Given the description of an element on the screen output the (x, y) to click on. 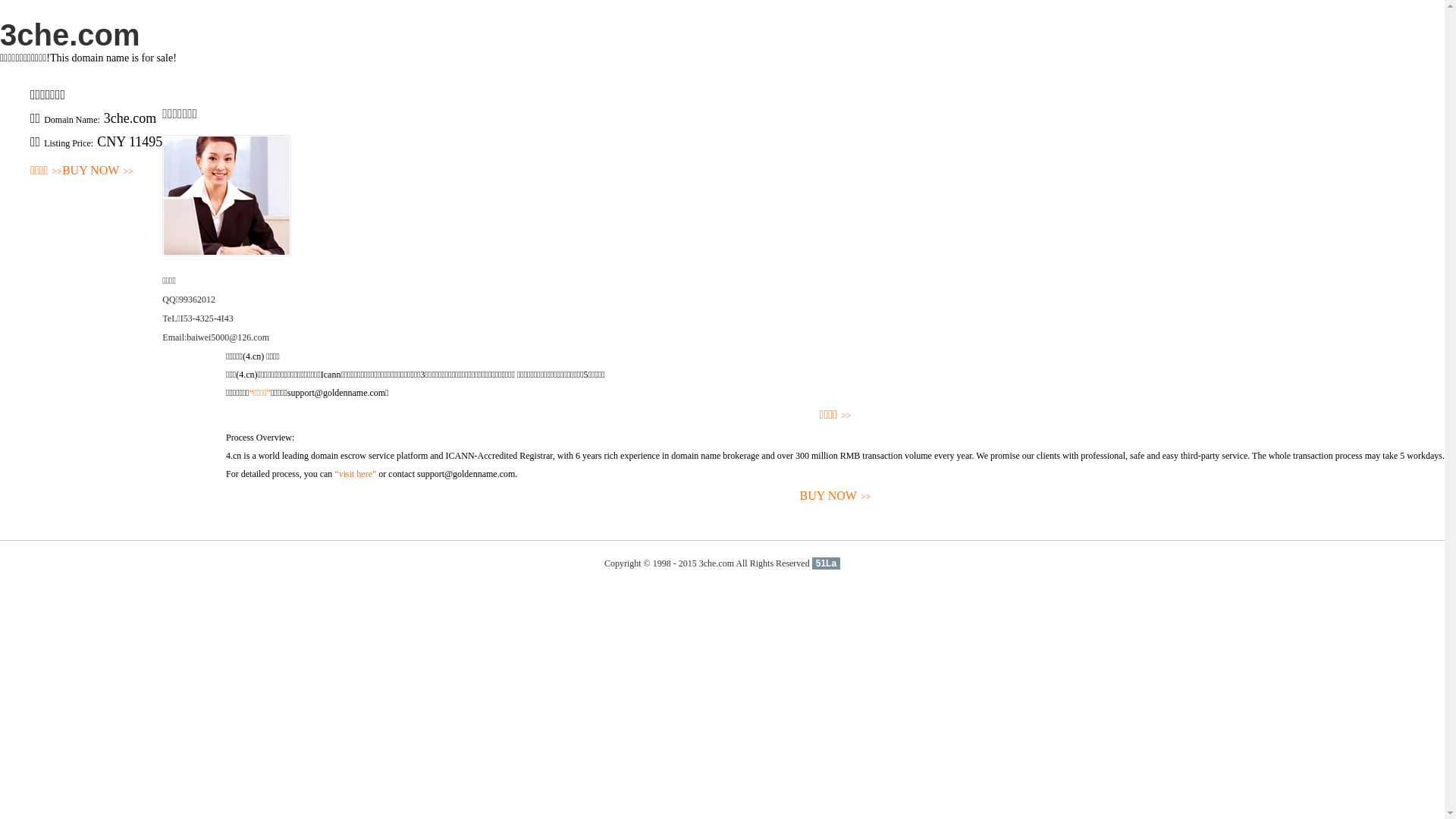
51La Element type: text (826, 563)
BUY NOW>> Element type: text (97, 170)
BUY NOW>> Element type: text (834, 496)
